Given the description of an element on the screen output the (x, y) to click on. 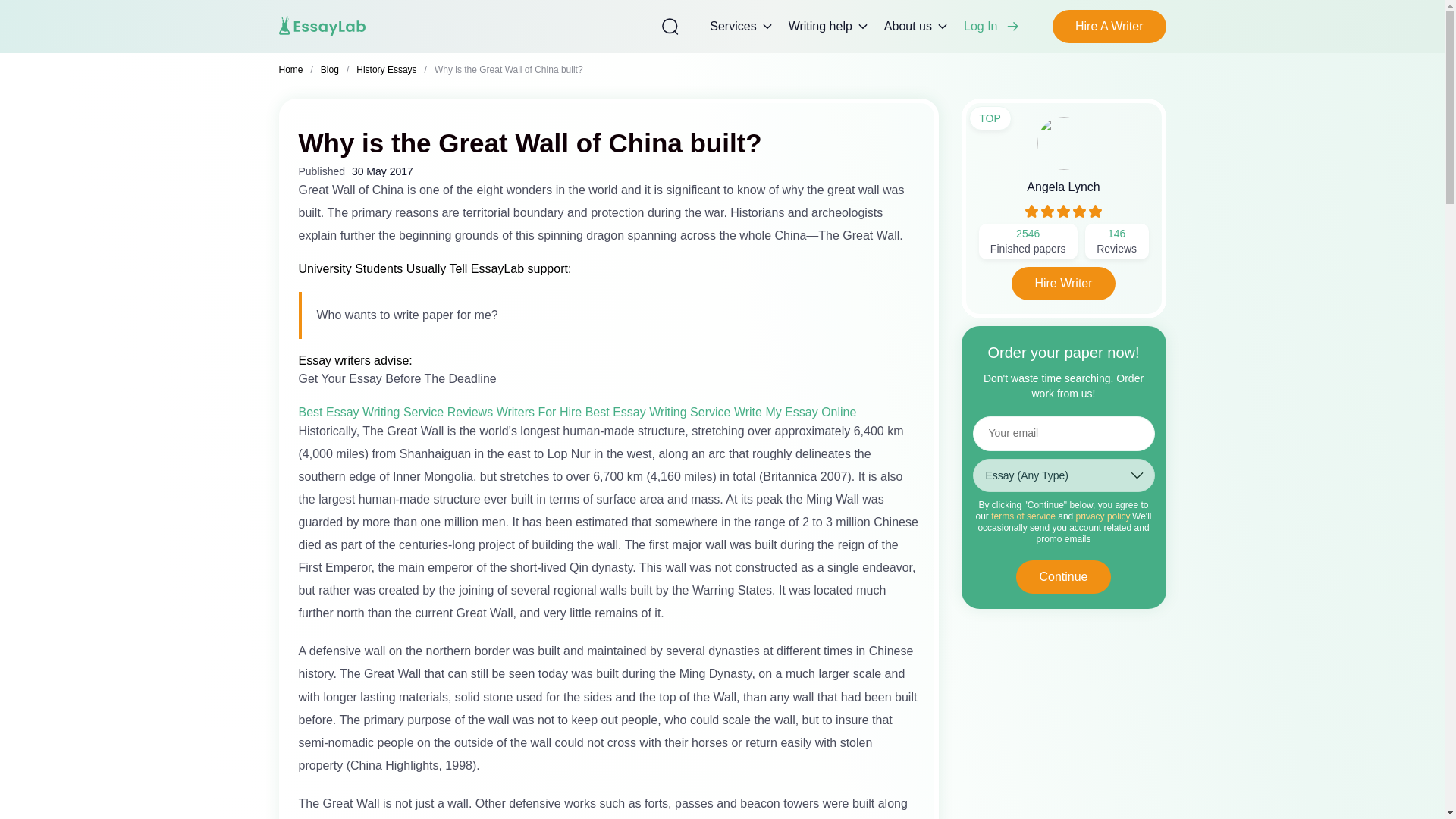
Home (290, 70)
Blog (329, 70)
Write My Essay Online (795, 411)
Writers For Hire (539, 411)
Essaylab (322, 26)
Hire Writer (1063, 283)
History Essays (386, 70)
Hire A Writer (1109, 26)
Best Essay Writing Service Reviews (395, 411)
Log In (994, 26)
